Given the description of an element on the screen output the (x, y) to click on. 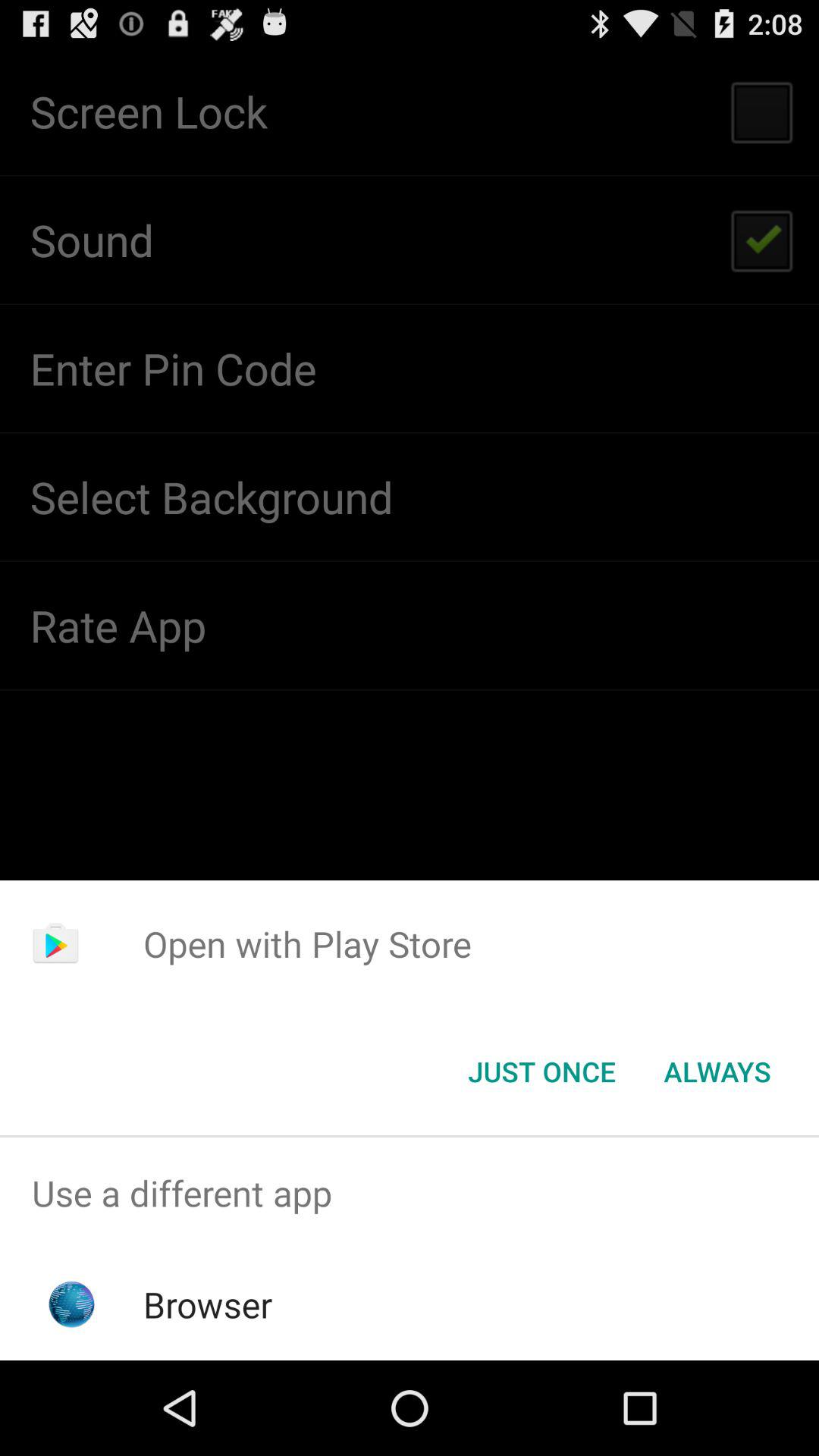
press icon below open with play item (541, 1071)
